Given the description of an element on the screen output the (x, y) to click on. 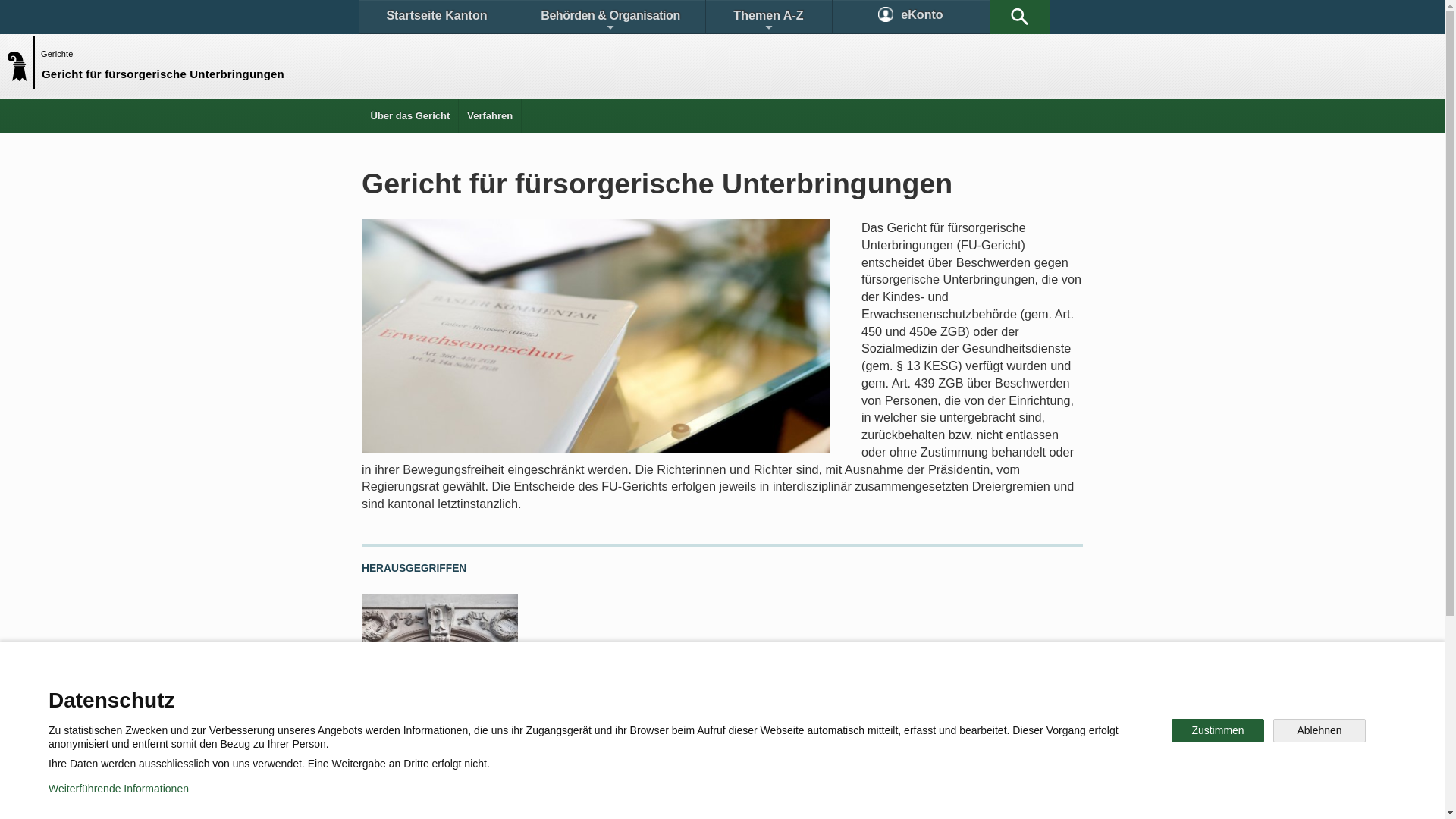
Themen A-Z Element type: text (768, 17)
Impressum Element type: text (648, 796)
Zustimmen Element type: text (1217, 730)
Gesetze Element type: text (597, 693)
Facebook Element type: text (547, 746)
Ablehnen Element type: text (1319, 730)
Zur mobilen Ansicht Element type: text (752, 796)
Bild & Multimedia Element type: text (908, 693)
Verfahren Element type: text (489, 115)
Instagram Element type: text (738, 746)
Startseite Kanton Element type: text (435, 17)
Twitter Element type: text (642, 746)
Kontakt Element type: text (406, 693)
eKonto Element type: text (910, 17)
Statistiken Element type: text (687, 693)
Nutzungsregelungen Element type: text (542, 796)
Publikationen Element type: text (795, 693)
Stadtplan & Karte Element type: text (504, 693)
Die Gerichte des Kantons Basel-Stadt Element type: text (430, 723)
